Given the description of an element on the screen output the (x, y) to click on. 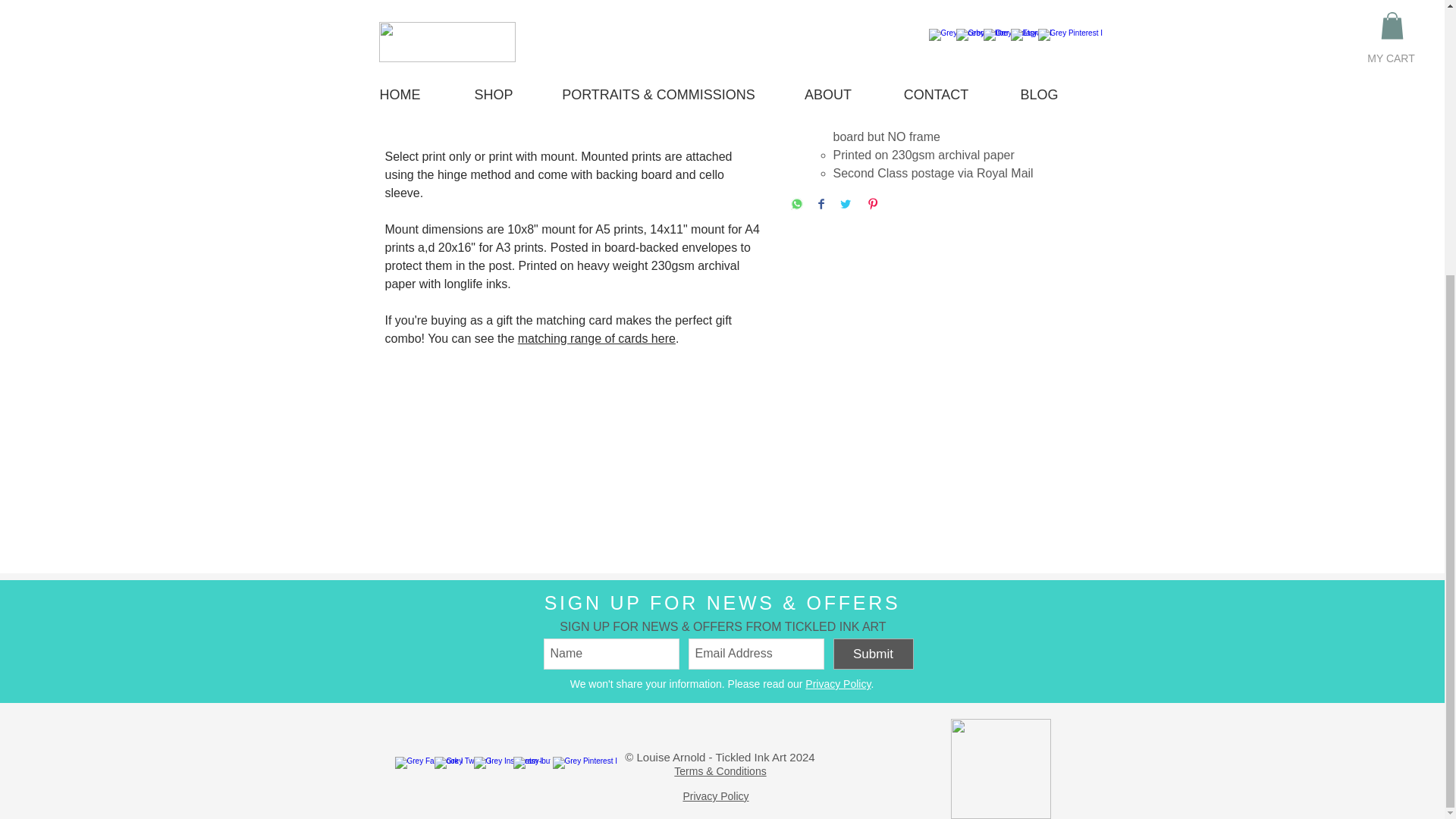
Submit (872, 653)
matching range of cards here (596, 338)
Privacy Policy (837, 684)
Privacy Policy (715, 796)
Add to Cart (924, 4)
